Given the description of an element on the screen output the (x, y) to click on. 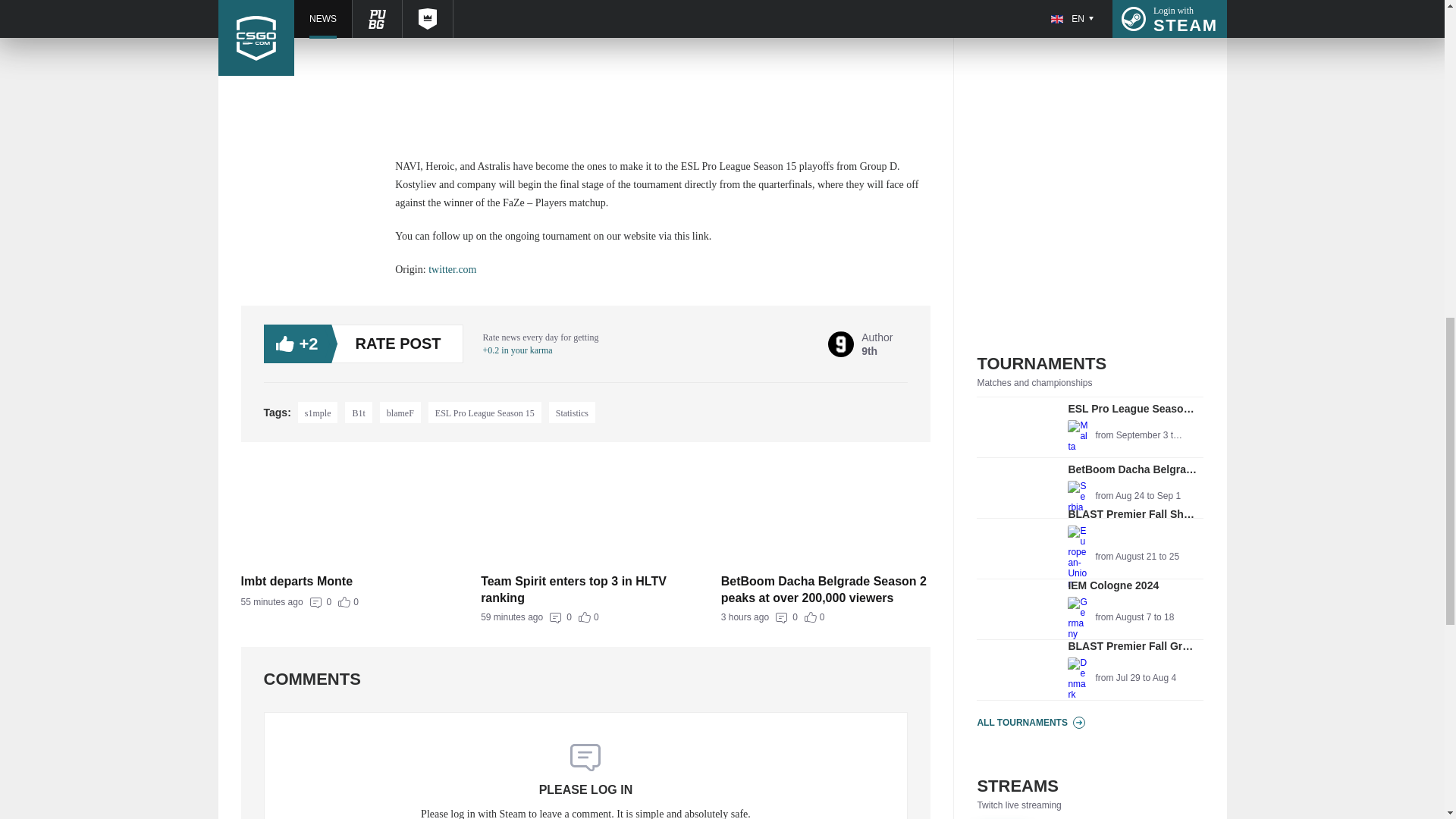
Team Spirit enters top 3 in HLTV ranking (1090, 487)
lmbt departs Monte (585, 589)
ESL Pro League Season 15 (346, 581)
twitter.com (484, 412)
